Given the description of an element on the screen output the (x, y) to click on. 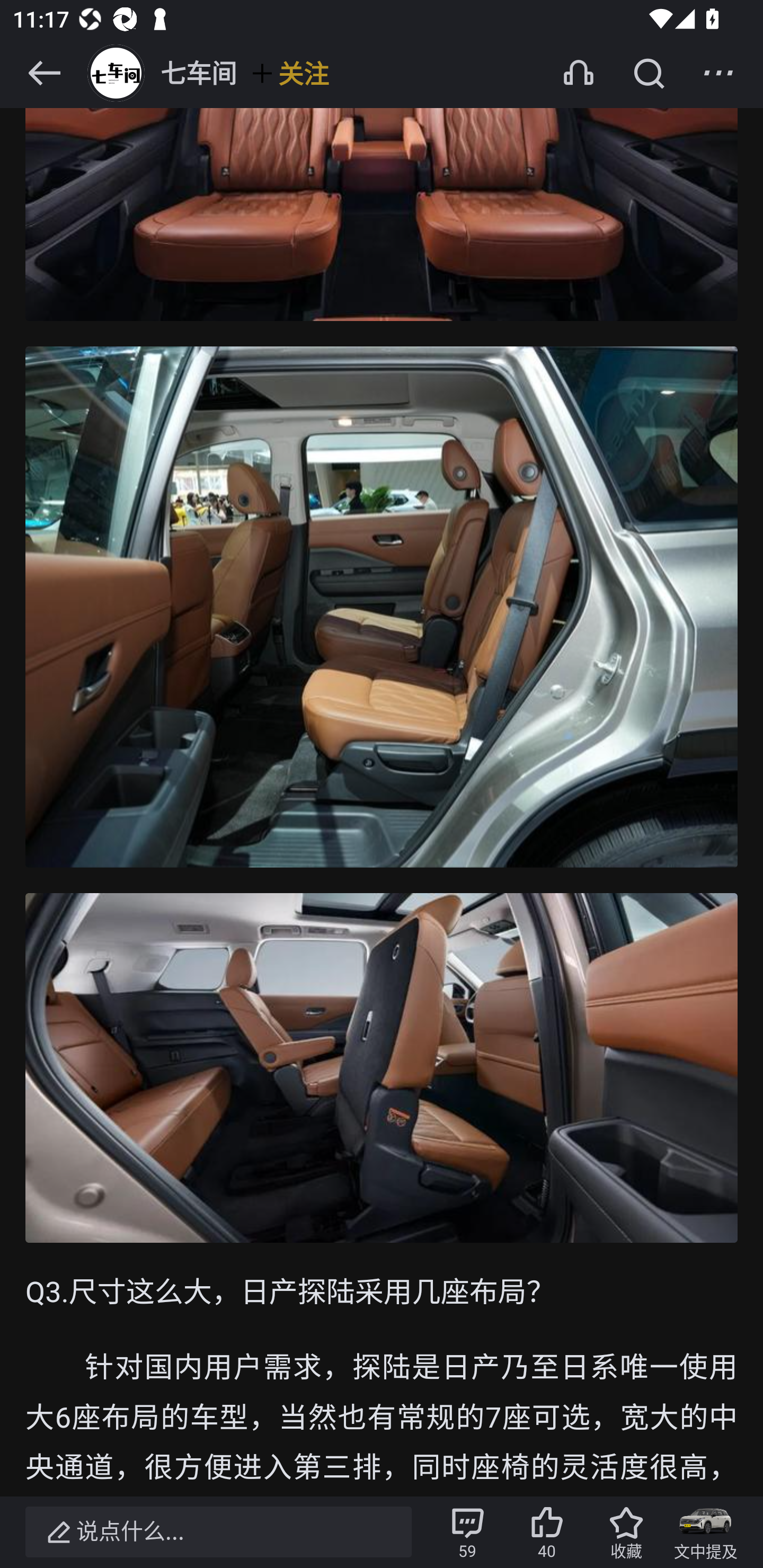
uUqfyQghHd9-Mq-SBCS8YarrTmI (381, 161)
七车间 (159, 72)
 (44, 72)
 (648, 72)
 (718, 72)
 关注 (288, 73)
1JbvbYdDkFH_ztkP4gHtRaaNYs8 (381, 607)
5F3YY7CjBmThjxMNM3iLmKldHwQ (381, 1068)
 59 (467, 1531)
40 (546, 1531)
收藏 (625, 1531)
文中提及 (705, 1531)
 说点什么... (218, 1531)
